Given the description of an element on the screen output the (x, y) to click on. 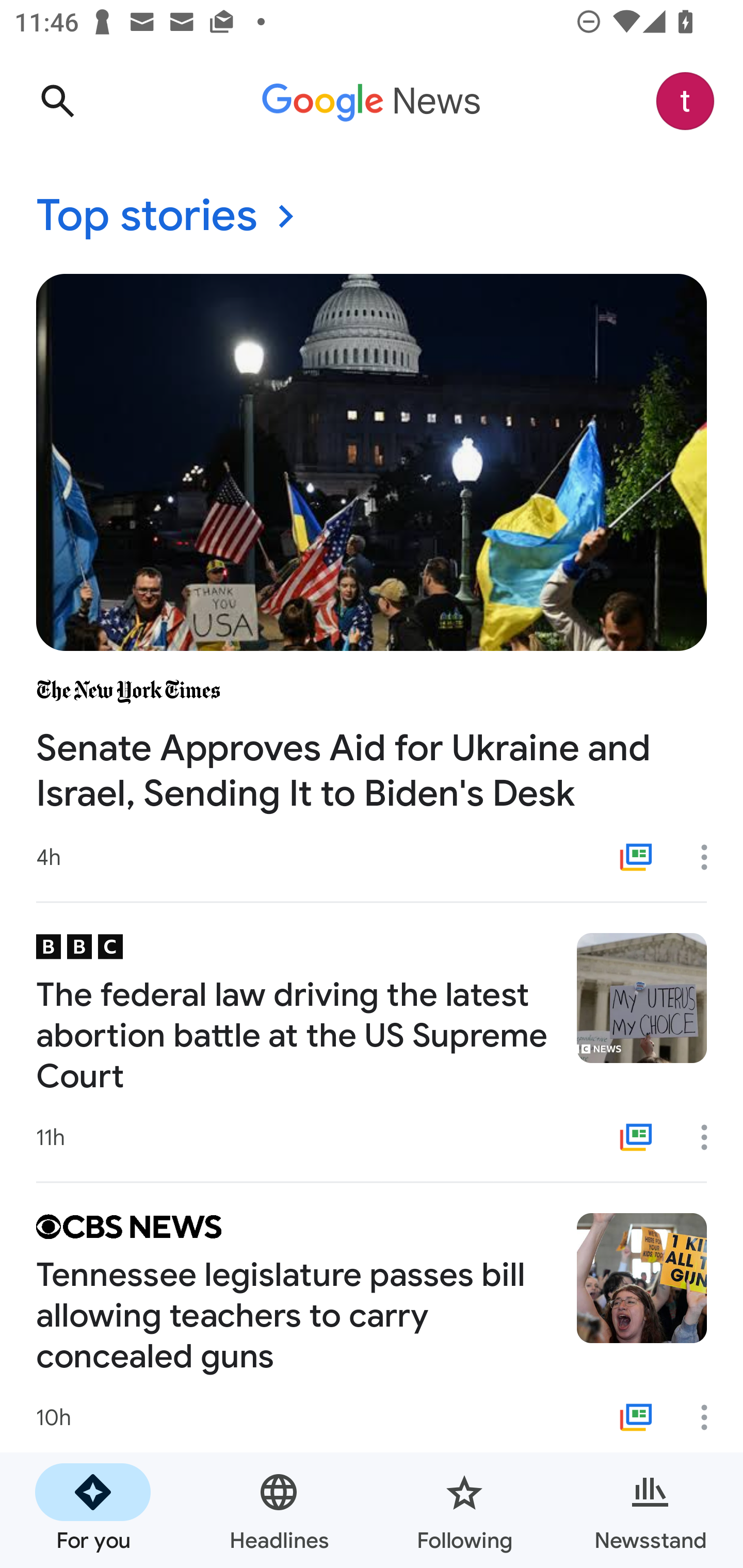
Search (57, 100)
Top stories (371, 216)
More options (711, 856)
More options (711, 1137)
More options (711, 1417)
For you (92, 1509)
Headlines (278, 1509)
Following (464, 1509)
Newsstand (650, 1509)
